Given the description of an element on the screen output the (x, y) to click on. 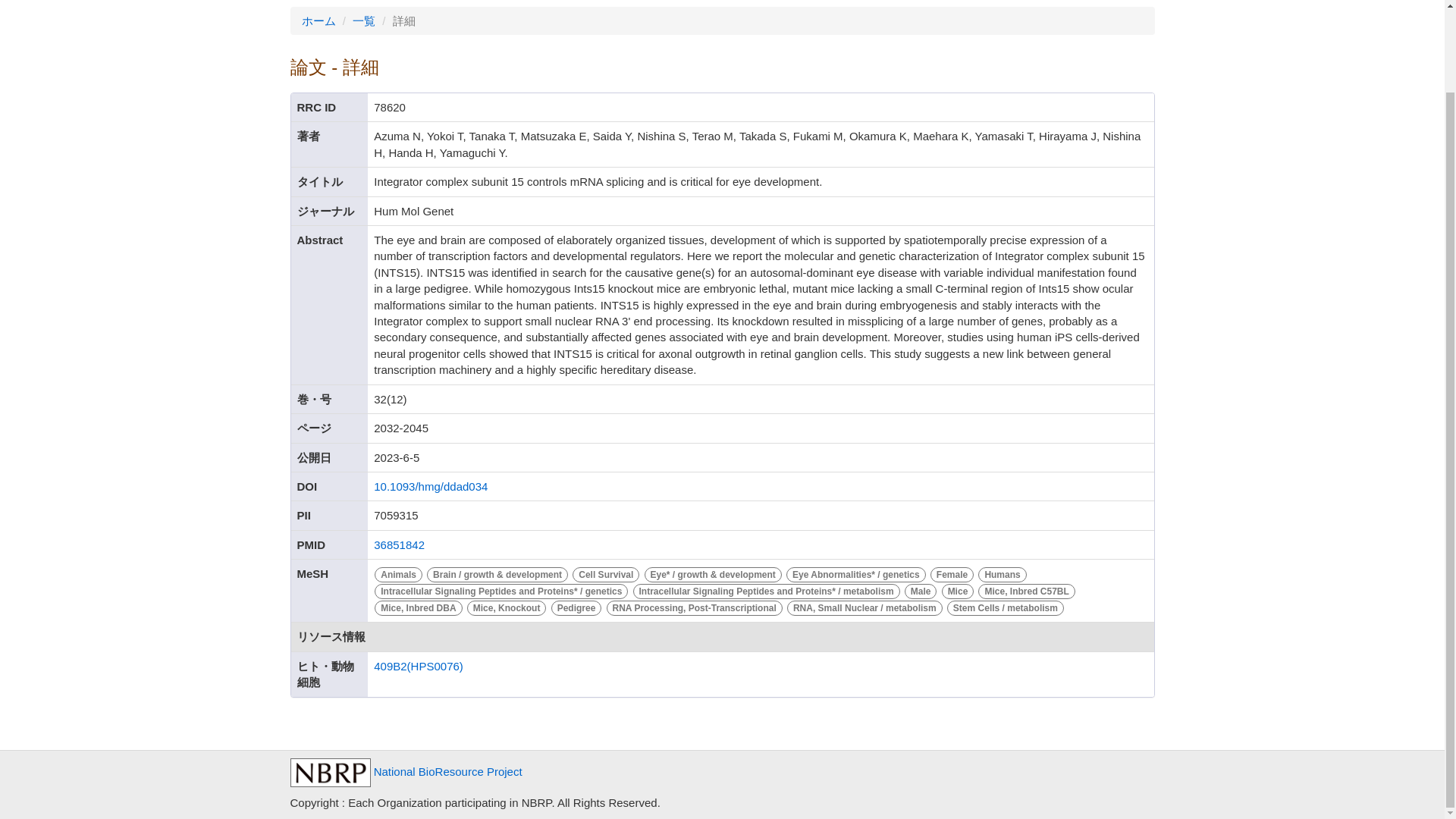
Mice, Inbred DBA (419, 606)
Pedigree (577, 606)
Mice, Knockout (507, 606)
Humans (1001, 573)
Mice, Inbred C57BL (1025, 590)
National BioResource Project (405, 771)
Cell Survival (607, 573)
Female (954, 573)
RNA Processing, Post-Transcriptional (695, 606)
Animals (400, 573)
Male (922, 590)
36851842 (399, 544)
Mice (959, 590)
